Given the description of an element on the screen output the (x, y) to click on. 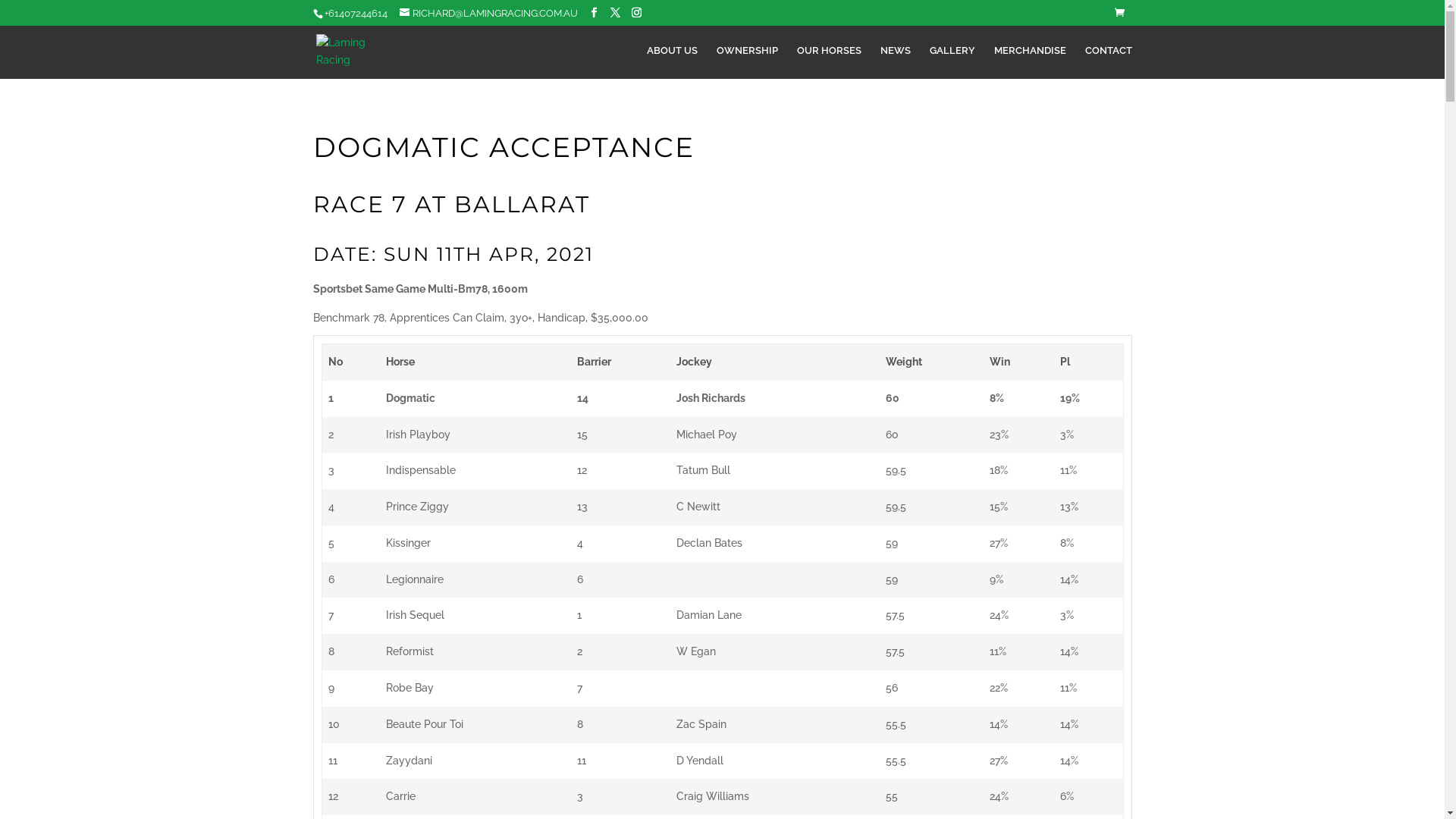
OWNERSHIP Element type: text (746, 61)
OUR HORSES Element type: text (828, 61)
CONTACT Element type: text (1107, 61)
GALLERY Element type: text (952, 61)
NEWS Element type: text (894, 61)
+61407244614 Element type: text (355, 12)
RICHARD@LAMINGRACING.COM.AU Element type: text (487, 12)
ABOUT US Element type: text (671, 61)
MERCHANDISE Element type: text (1029, 61)
